Given the description of an element on the screen output the (x, y) to click on. 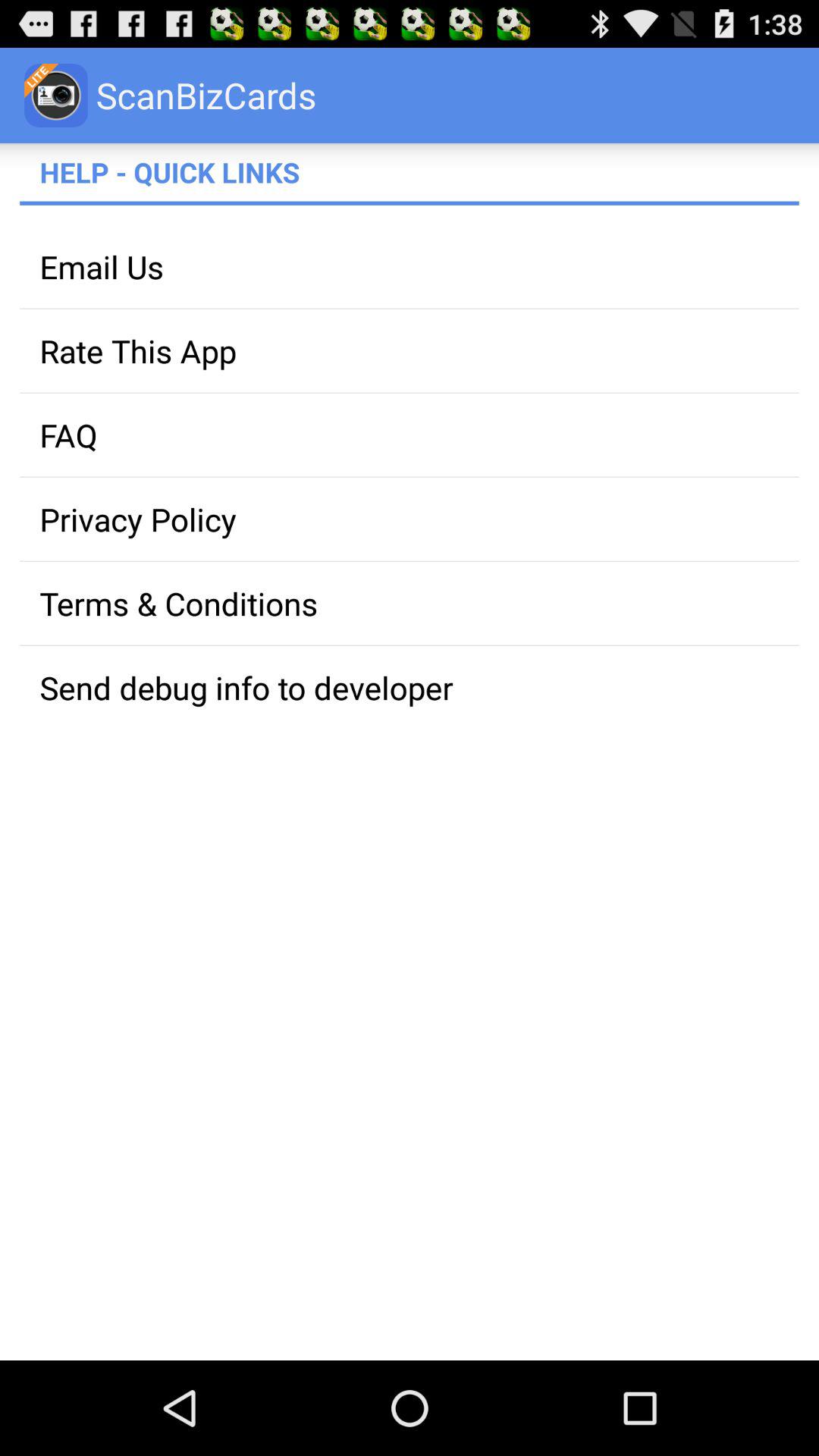
scroll until terms & conditions icon (409, 603)
